Given the description of an element on the screen output the (x, y) to click on. 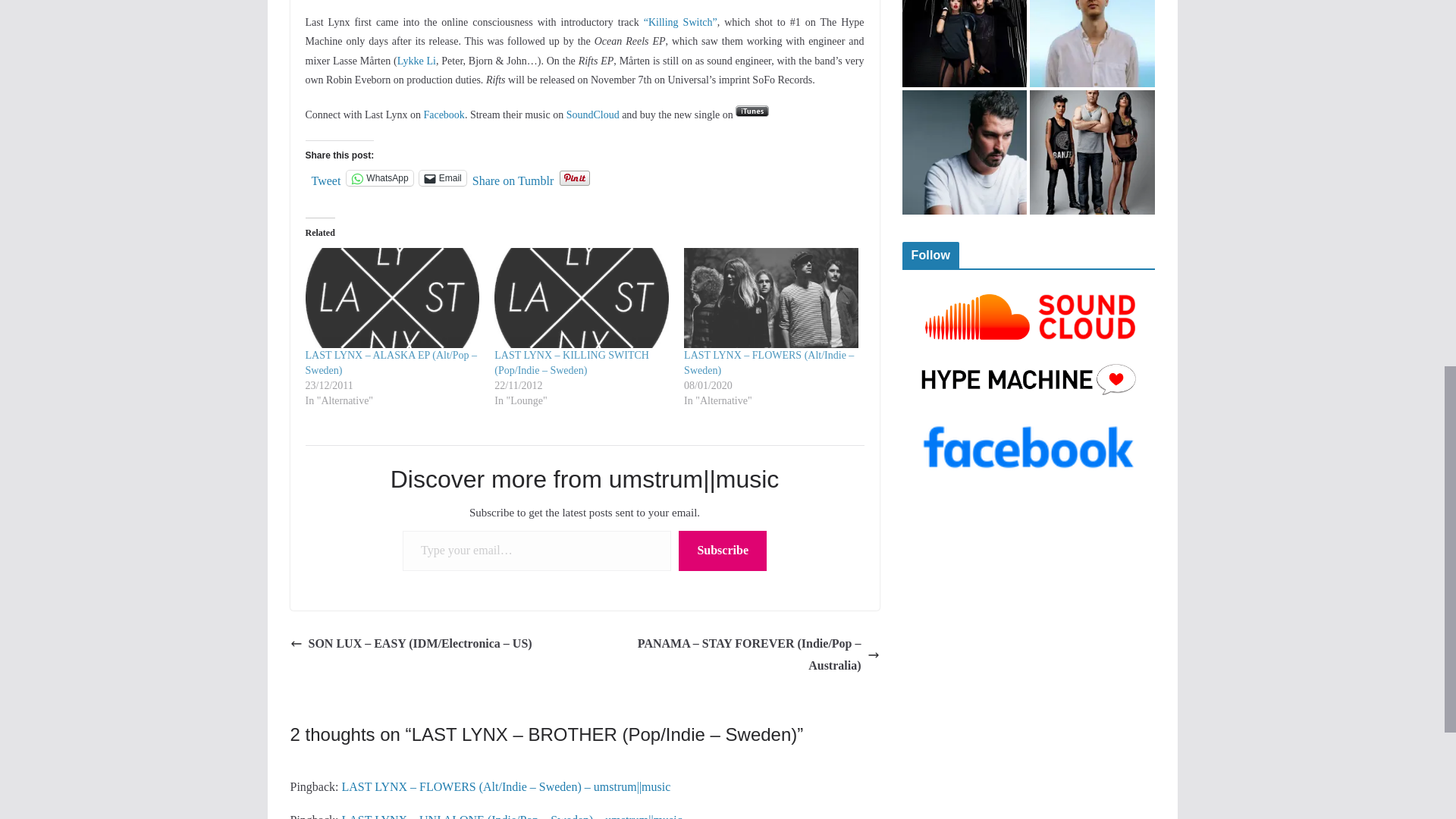
Lykke Li (416, 60)
Share on Tumblr (512, 177)
Email (442, 177)
Share on Tumblr (512, 177)
WhatsApp (379, 177)
Tweet (325, 177)
Click to email a link to a friend (442, 177)
SoundCloud (593, 114)
Facebook (443, 114)
Please fill in this field. (537, 550)
Click to share on WhatsApp (379, 177)
